Given the description of an element on the screen output the (x, y) to click on. 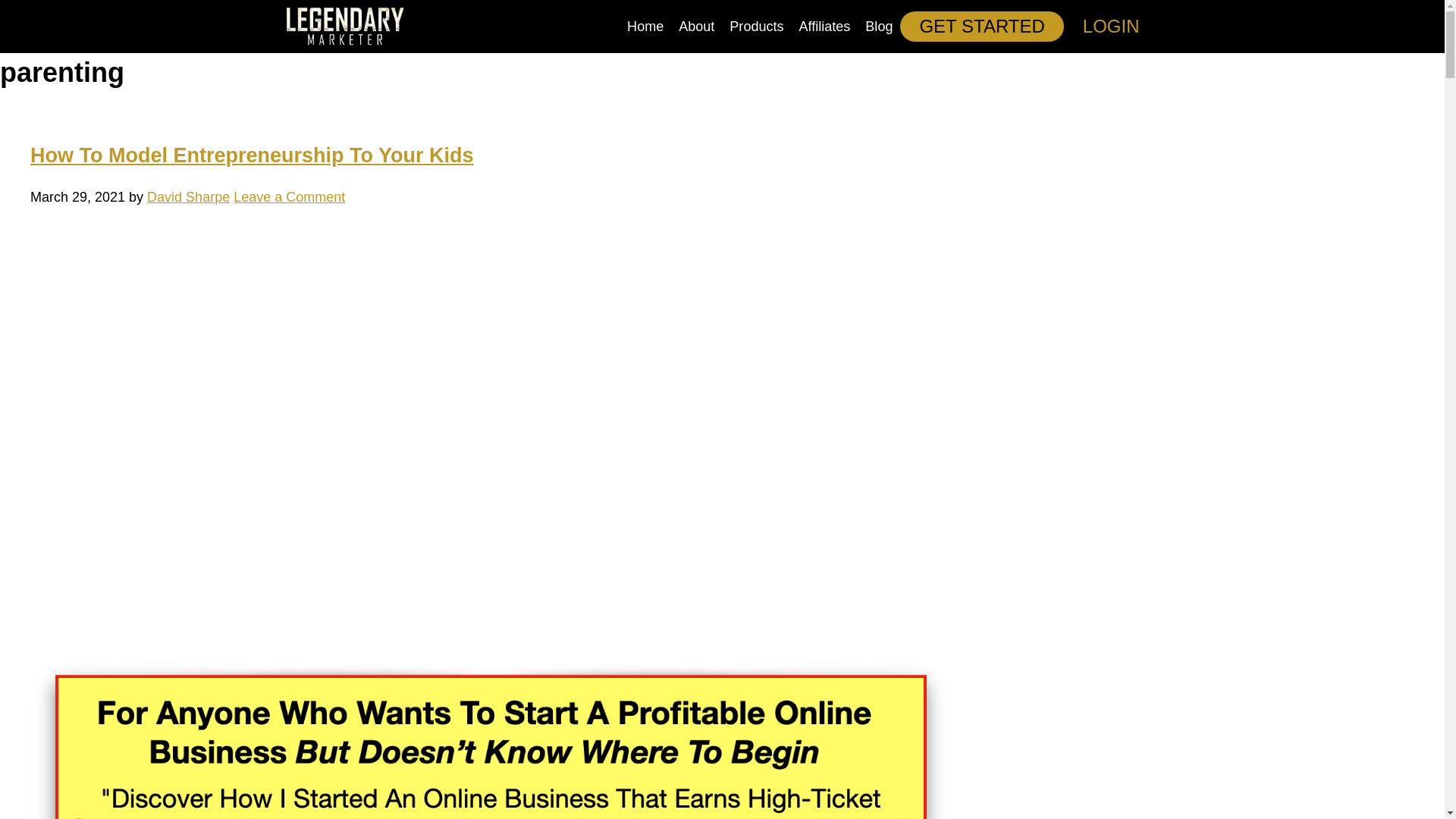
Affiliates (825, 26)
LOGIN (1111, 26)
Home (645, 26)
About (696, 26)
How To Model Entrepreneurship To Your Kids (252, 155)
David Sharpe (188, 196)
Leave a Comment (288, 196)
Products (756, 26)
GET STARTED (980, 26)
